Given the description of an element on the screen output the (x, y) to click on. 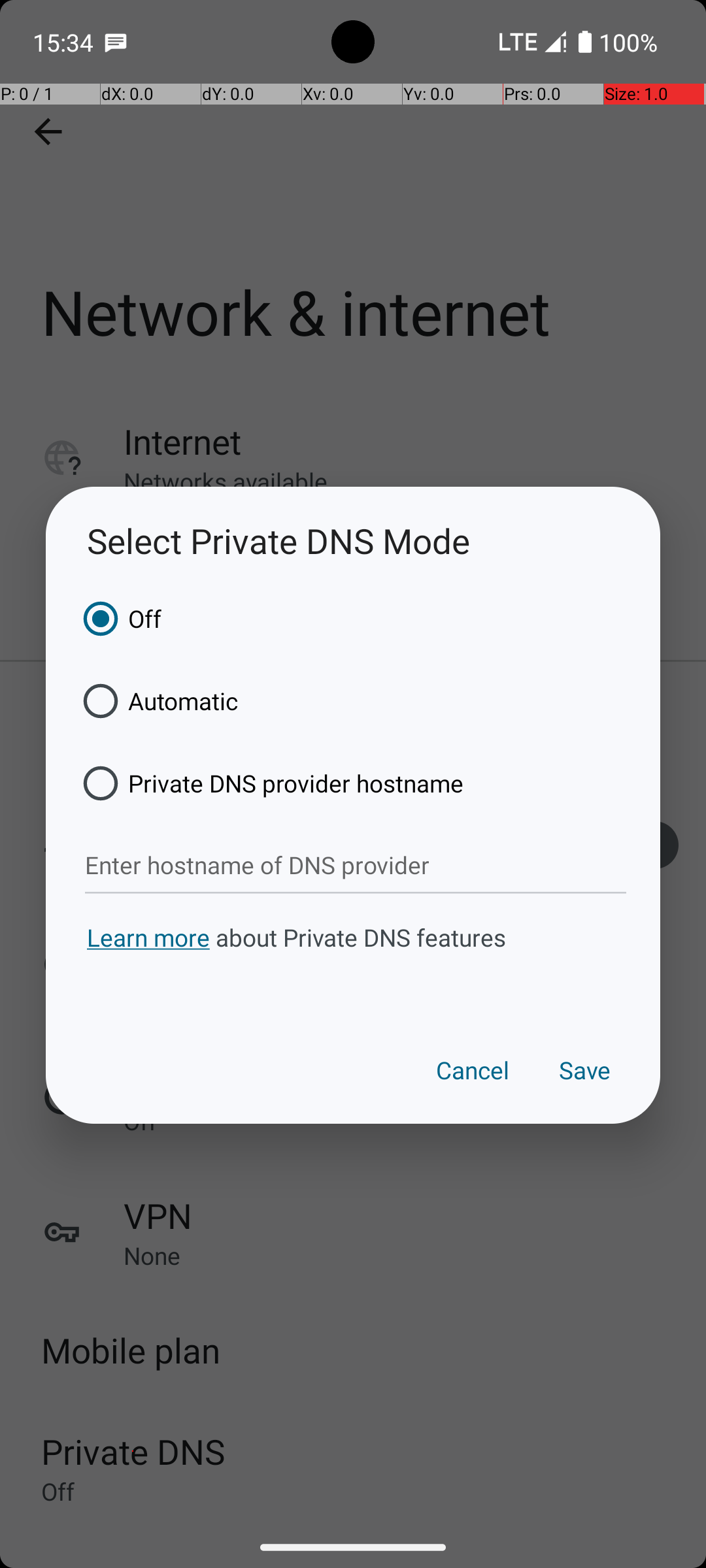
Select Private DNS Mode Element type: android.widget.TextView (352, 540)
Learn more about Private DNS features Element type: android.widget.TextView (352, 961)
Private DNS provider hostname Element type: android.widget.RadioButton (268, 783)
Enter hostname of DNS provider Element type: android.widget.EditText (355, 865)
